Given the description of an element on the screen output the (x, y) to click on. 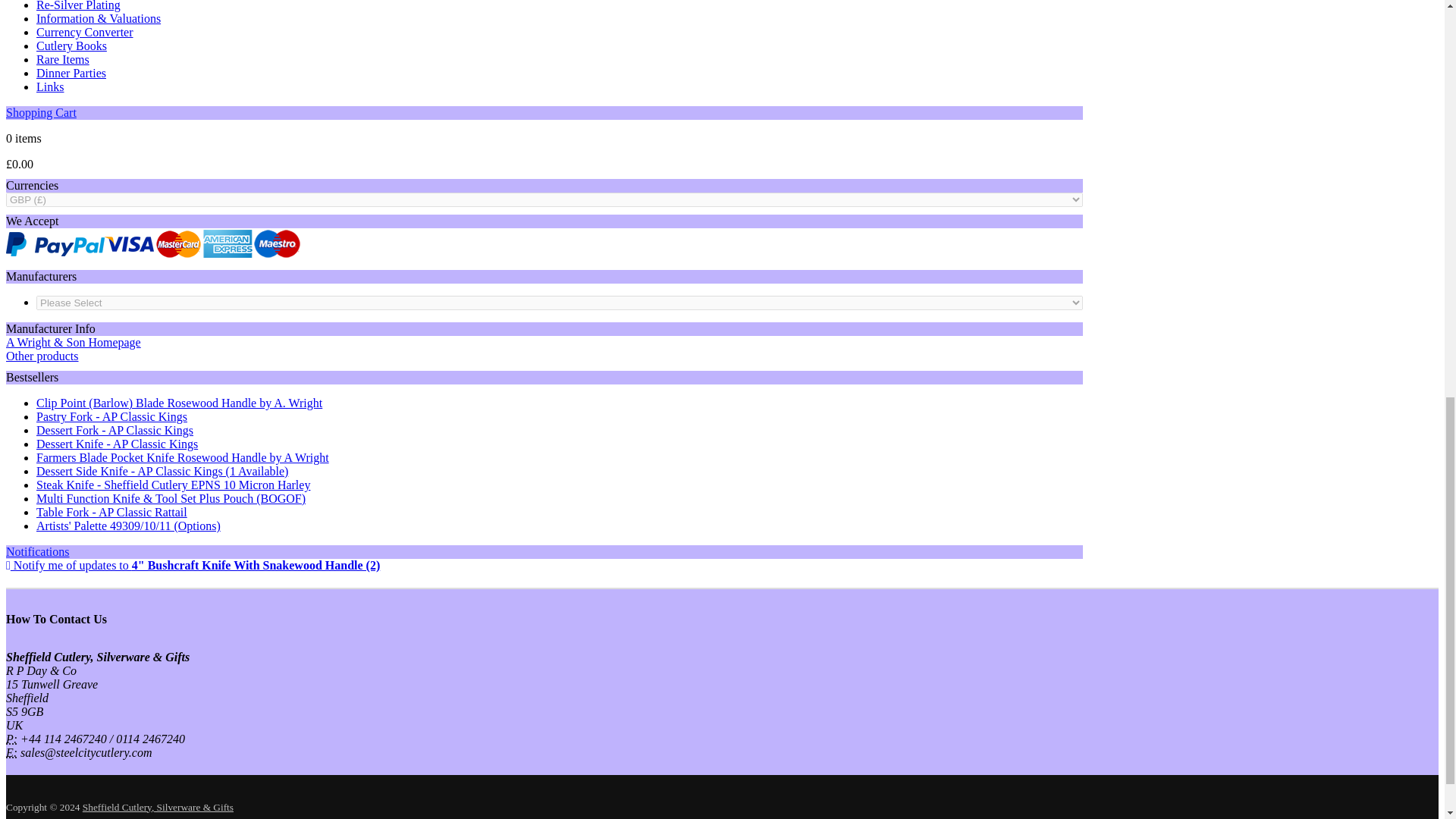
Phone (11, 738)
Email (11, 752)
